Given the description of an element on the screen output the (x, y) to click on. 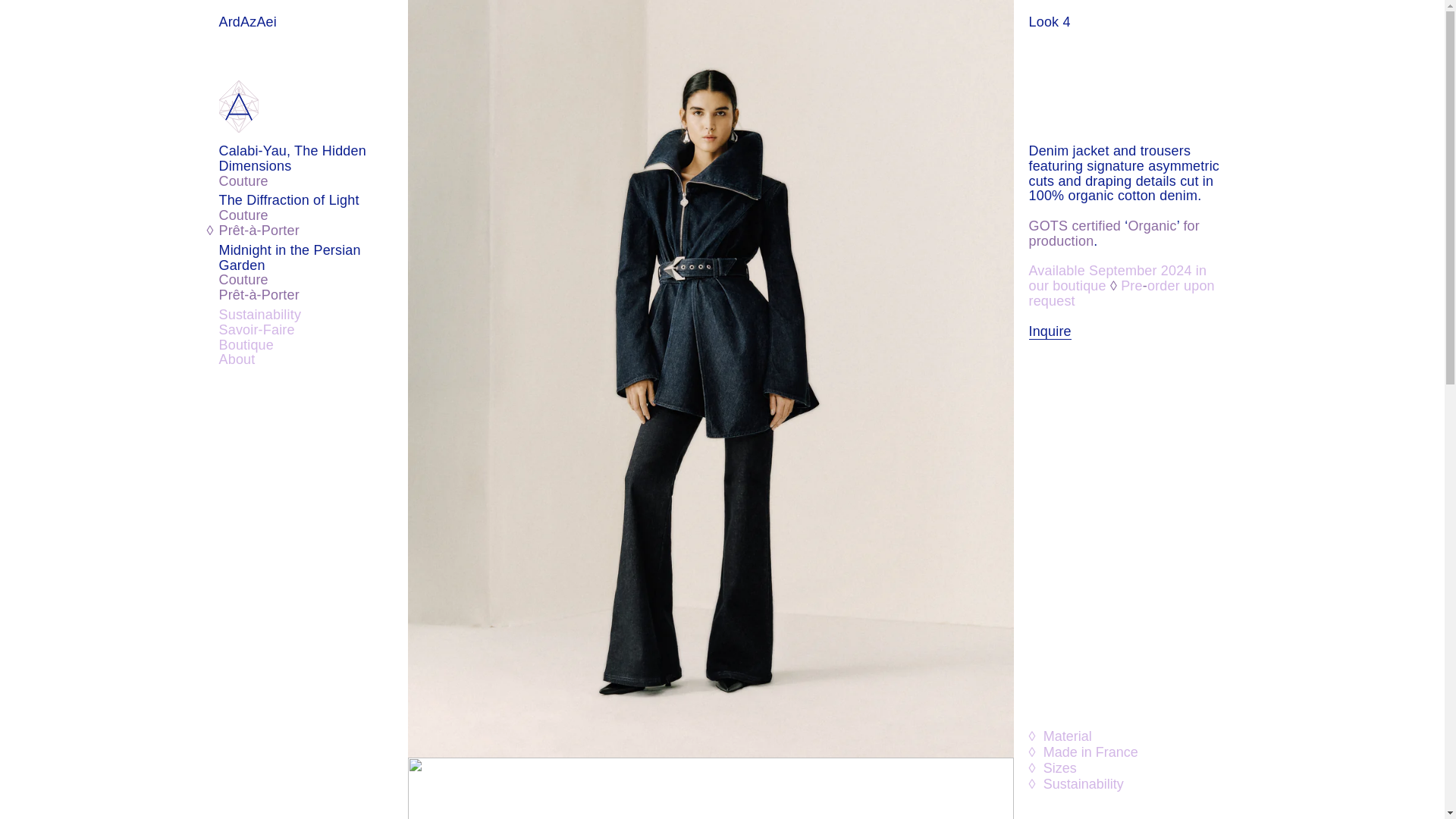
ArdAzAei (247, 79)
Midnight in the Persian Garden (312, 258)
Couture (312, 181)
Couture (312, 280)
Savoir-Faire (312, 330)
Skip to content (45, 17)
Boutique (312, 345)
Skip to product information (452, 17)
Calabi-Yau, The Hidden Dimensions (312, 159)
About (312, 359)
Couture (312, 215)
The Diffraction of Light (312, 200)
Sustainability (312, 314)
